Given the description of an element on the screen output the (x, y) to click on. 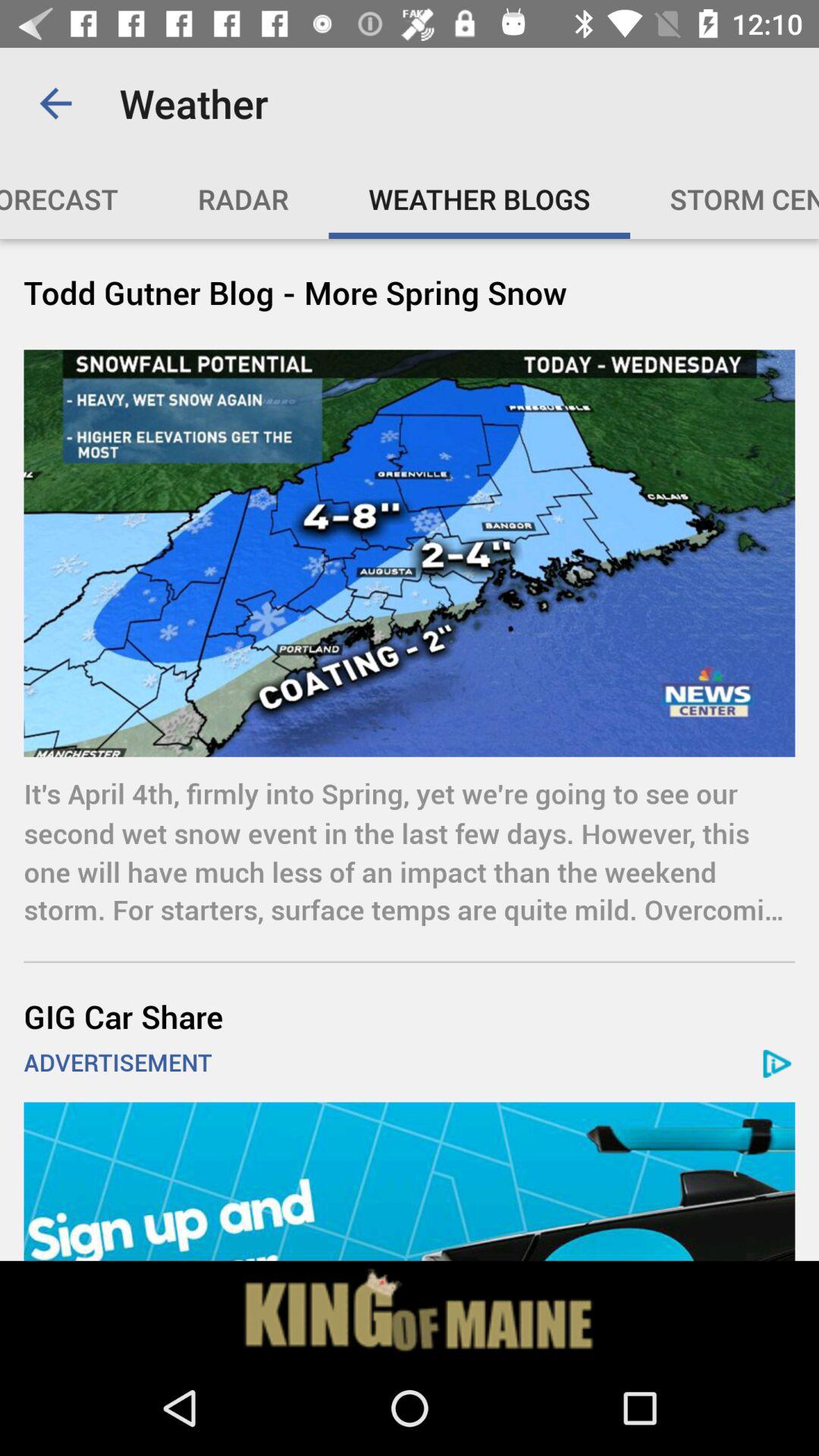
tap the icon above the advertisement icon (409, 1015)
